Given the description of an element on the screen output the (x, y) to click on. 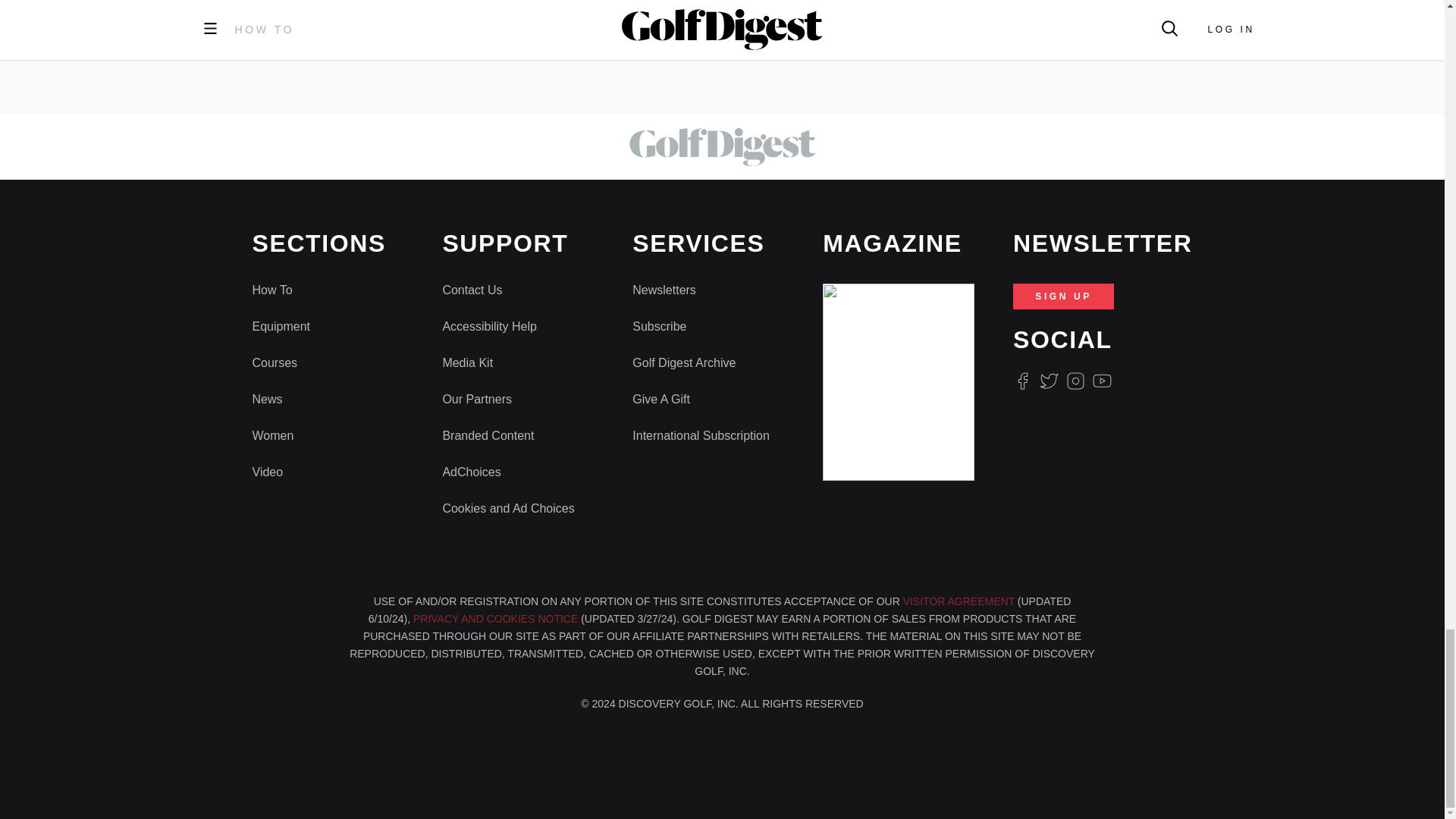
Youtube Icon (1102, 380)
Instagram Logo (1074, 380)
Twitter Logo (1048, 380)
Facebook Logo (1022, 380)
